Given the description of an element on the screen output the (x, y) to click on. 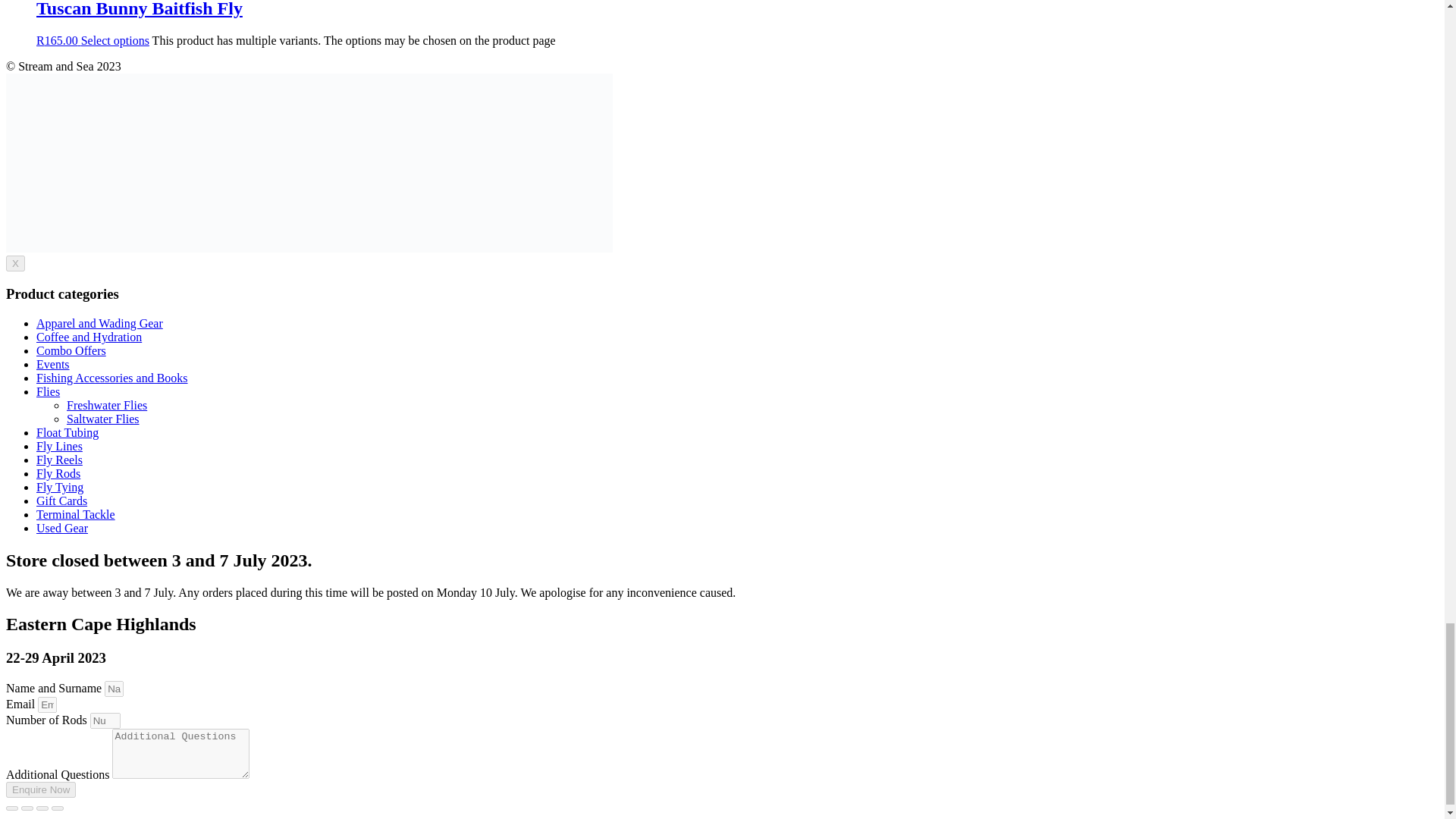
Freshwater Flies (106, 404)
Events (52, 364)
Fishing Accessories and Books (111, 377)
Apparel and Wading Gear (99, 323)
Coffee and Hydration (88, 336)
X (14, 263)
Select options (115, 40)
Flies (47, 391)
Combo Offers (71, 350)
